Given the description of an element on the screen output the (x, y) to click on. 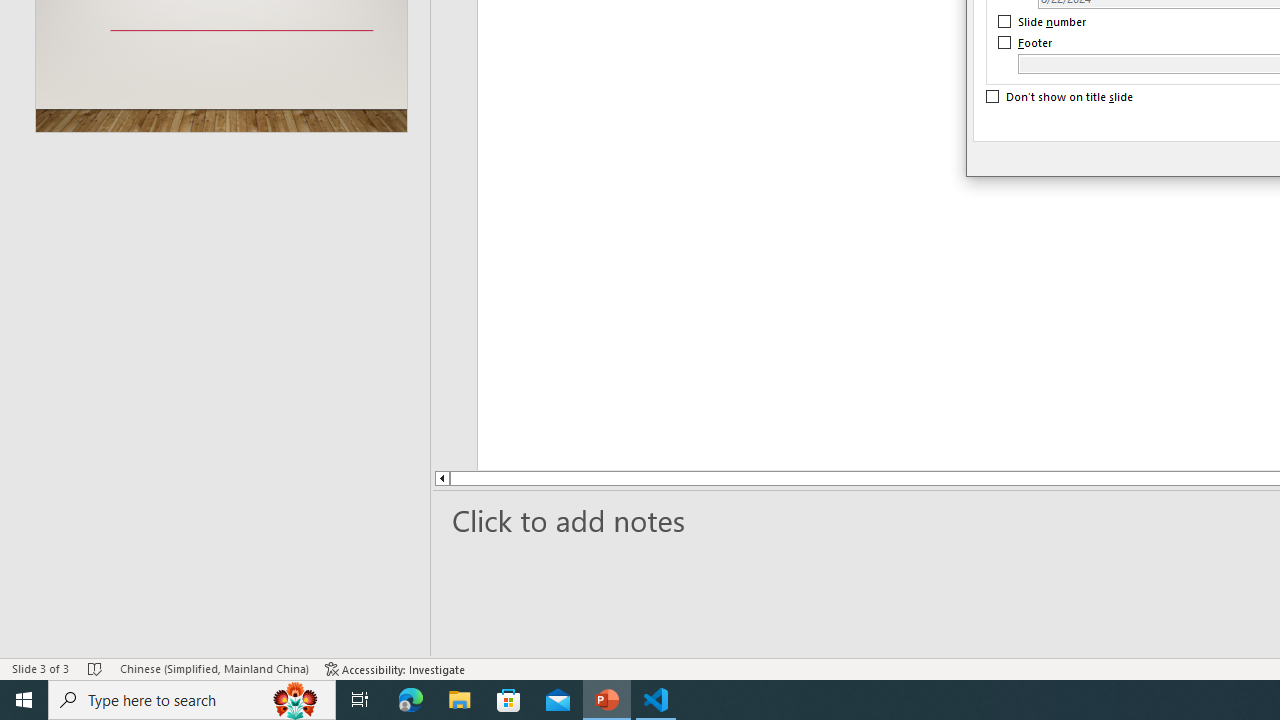
Footer (1025, 43)
Don't show on title slide (1060, 97)
Slide number (1043, 21)
